Given the description of an element on the screen output the (x, y) to click on. 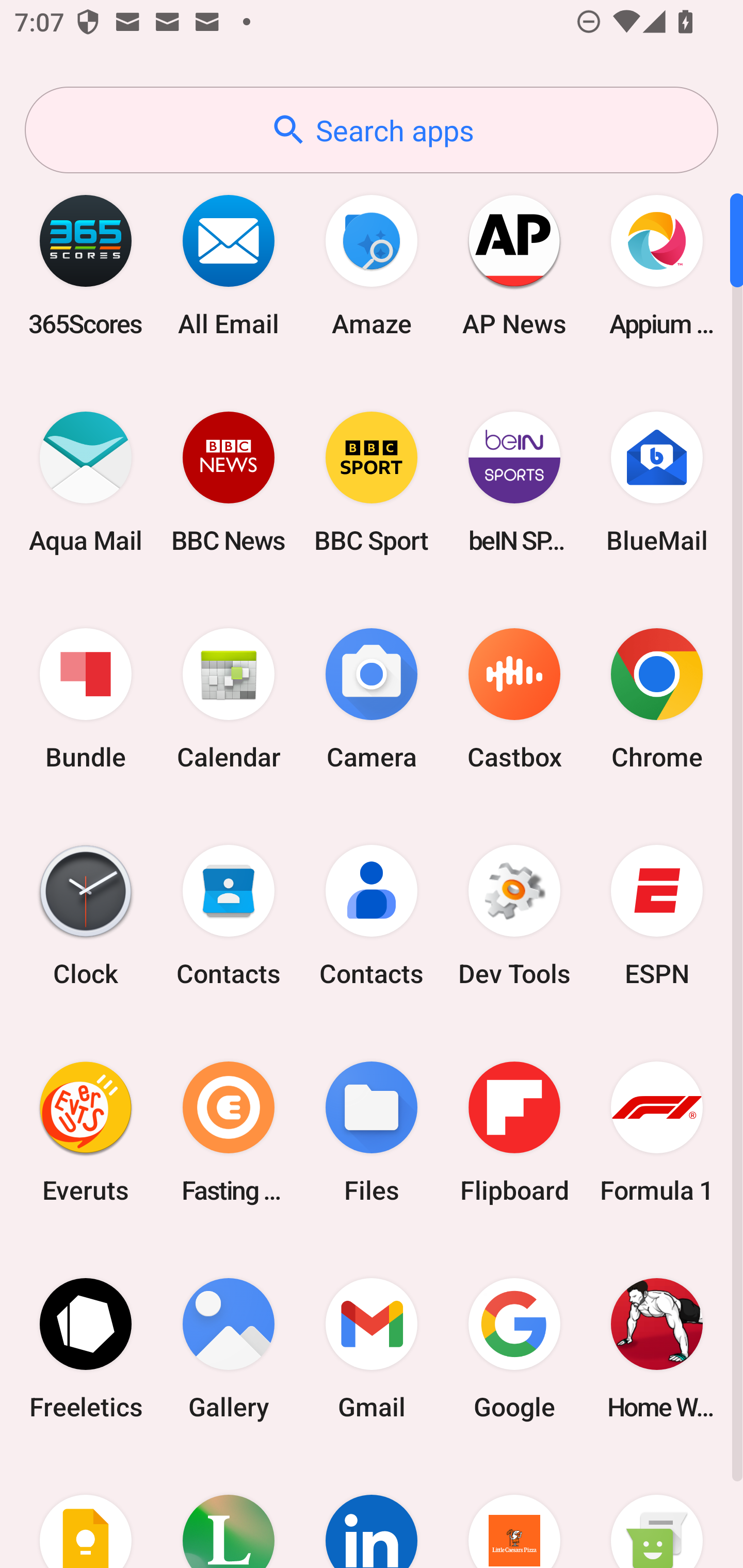
  Search apps (371, 130)
365Scores (85, 264)
All Email (228, 264)
Amaze (371, 264)
AP News (514, 264)
Appium Settings (656, 264)
Aqua Mail (85, 482)
BBC News (228, 482)
BBC Sport (371, 482)
beIN SPORTS (514, 482)
BlueMail (656, 482)
Bundle (85, 699)
Calendar (228, 699)
Camera (371, 699)
Castbox (514, 699)
Chrome (656, 699)
Clock (85, 915)
Contacts (228, 915)
Contacts (371, 915)
Dev Tools (514, 915)
ESPN (656, 915)
Everuts (85, 1131)
Fasting Coach (228, 1131)
Files (371, 1131)
Flipboard (514, 1131)
Formula 1 (656, 1131)
Freeletics (85, 1348)
Gallery (228, 1348)
Gmail (371, 1348)
Google (514, 1348)
Home Workout (656, 1348)
